Given the description of an element on the screen output the (x, y) to click on. 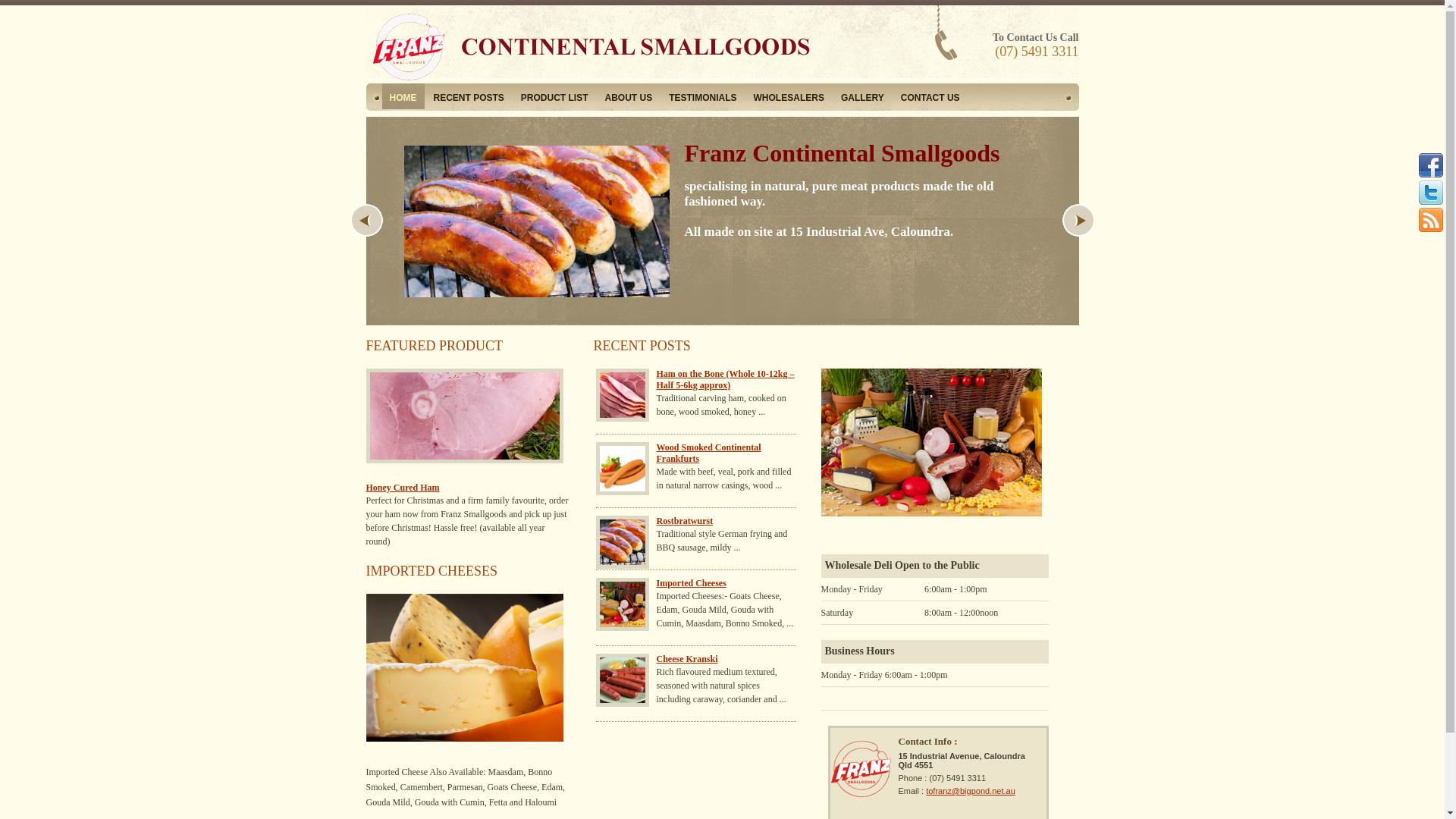
CONTACT US Element type: text (930, 96)
PRODUCT LIST Element type: text (554, 96)
Wood Smoked Continental Frankfurts Element type: text (708, 453)
GALLERY Element type: text (862, 96)
ABOUT US Element type: text (628, 96)
Rostbratwurst Element type: text (684, 520)
TESTIMONIALS Element type: text (702, 96)
tofranz@bigpond.net.au Element type: text (970, 790)
WHOLESALERS Element type: text (788, 96)
HOME Element type: text (403, 96)
Imported Cheeses Element type: text (691, 582)
Honey Cured Ham Element type: text (402, 487)
Franz Smallgoods Element type: hover (600, 83)
RECENT POSTS Element type: text (468, 96)
Cheese Kranski Element type: text (687, 658)
